Given the description of an element on the screen output the (x, y) to click on. 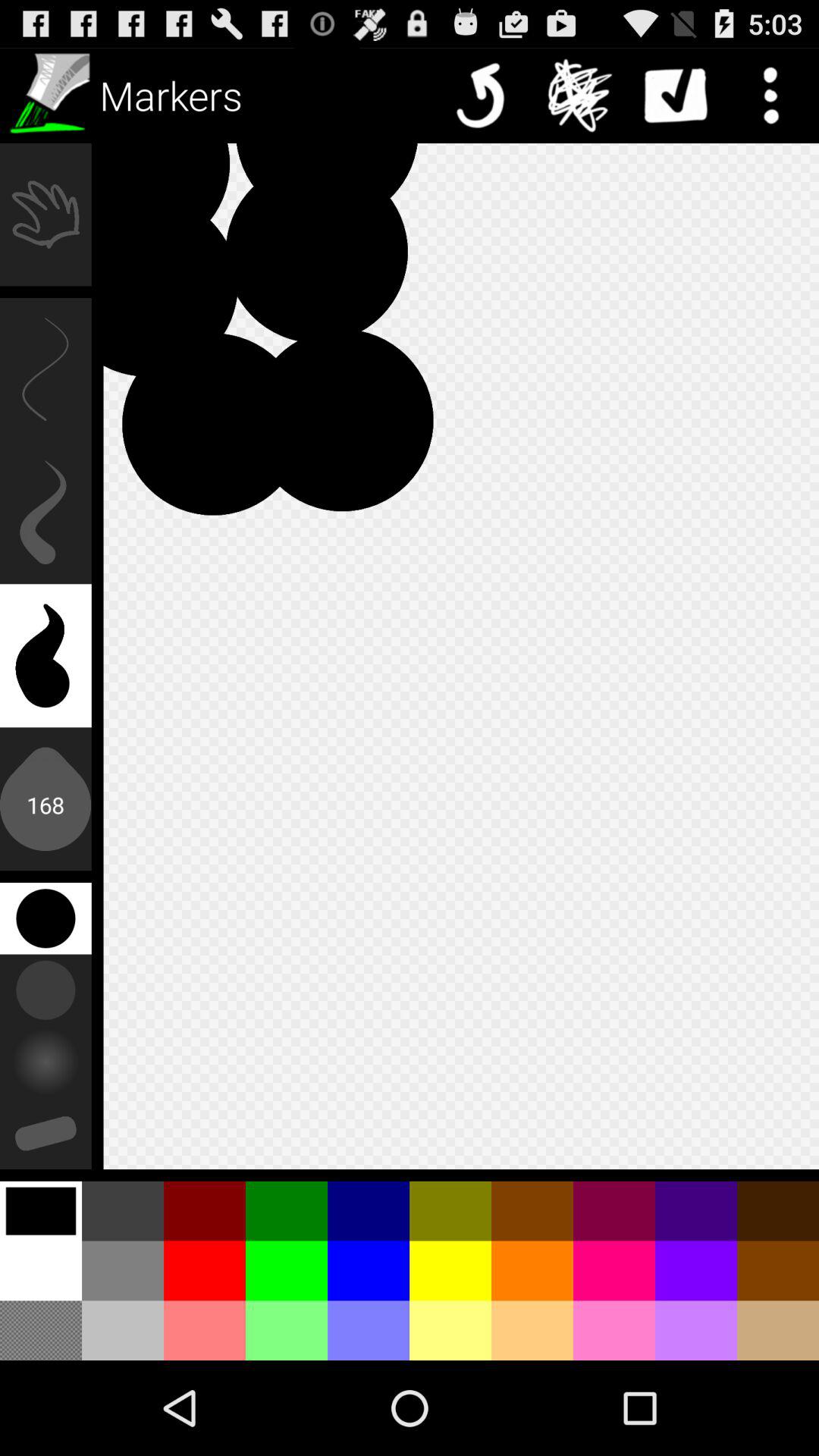
select brush option (47, 95)
